Given the description of an element on the screen output the (x, y) to click on. 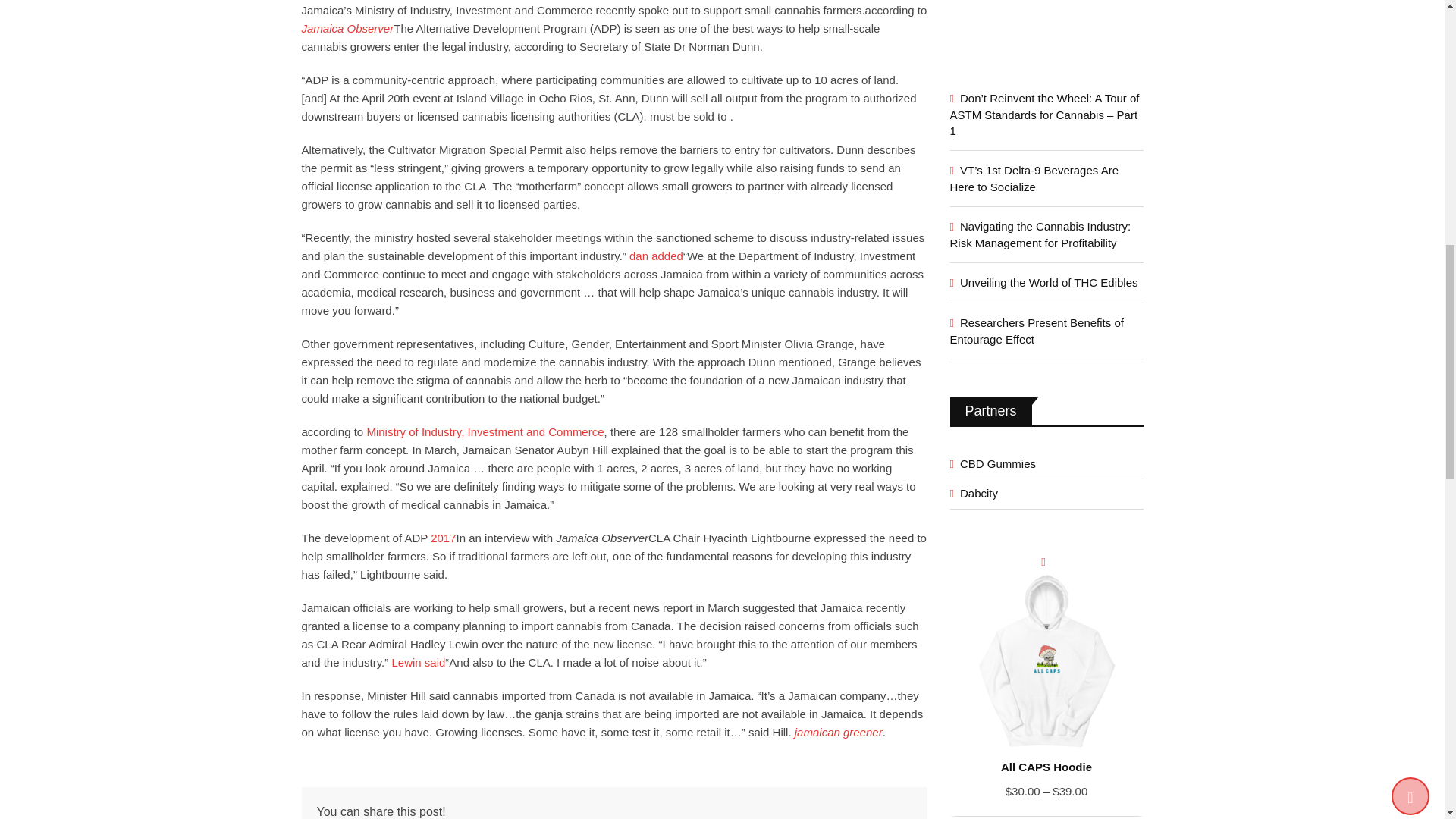
CBD (992, 463)
Dabcity (973, 492)
